Given the description of an element on the screen output the (x, y) to click on. 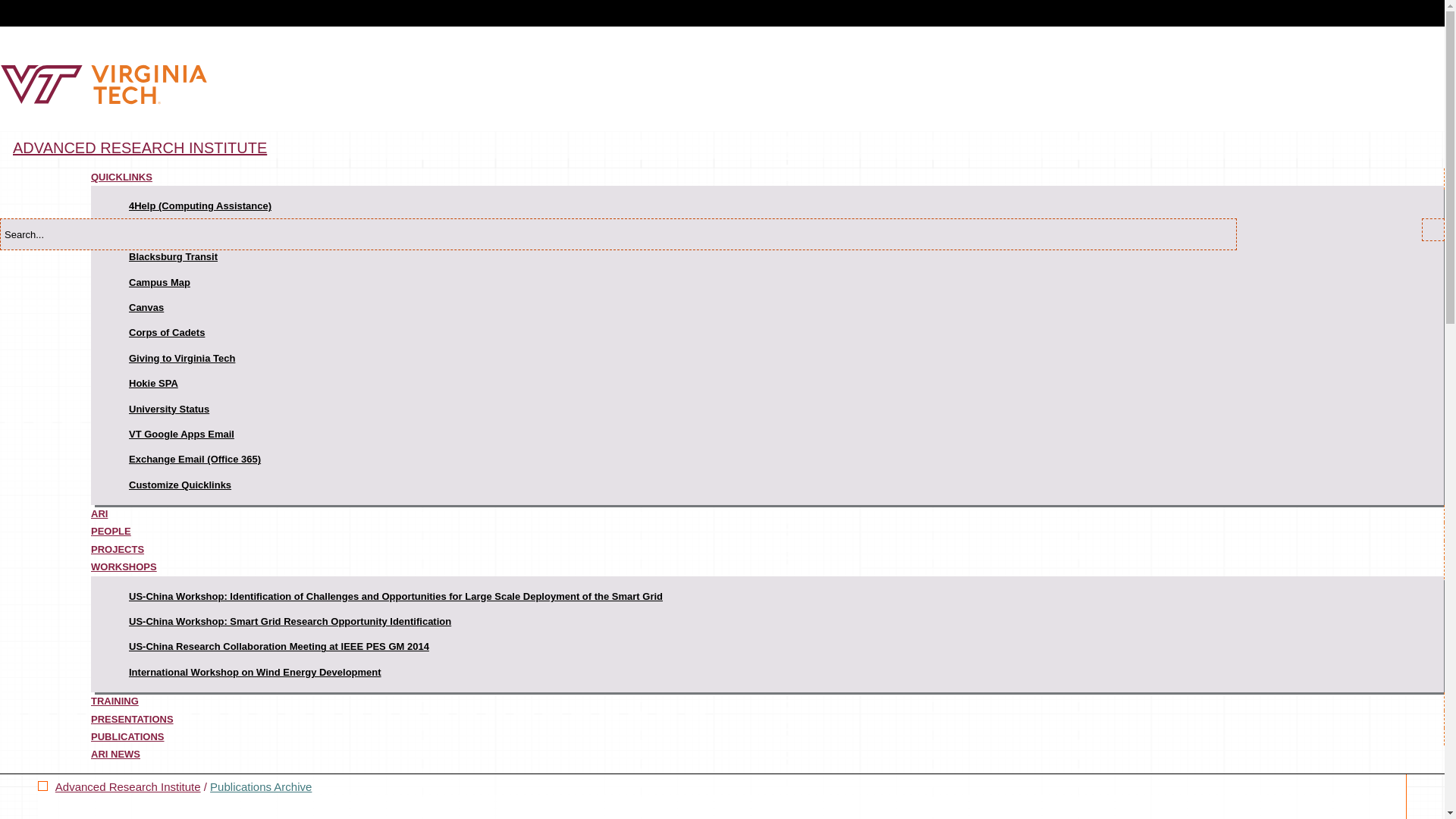
Canvas (146, 307)
Virginia Tech Home (104, 101)
Calendars, Academic (178, 231)
Campus Map (159, 282)
QUICKLINKS (121, 176)
Blacksburg Transit (172, 256)
ADVANCED RESEARCH INSTITUTE (139, 146)
